Given the description of an element on the screen output the (x, y) to click on. 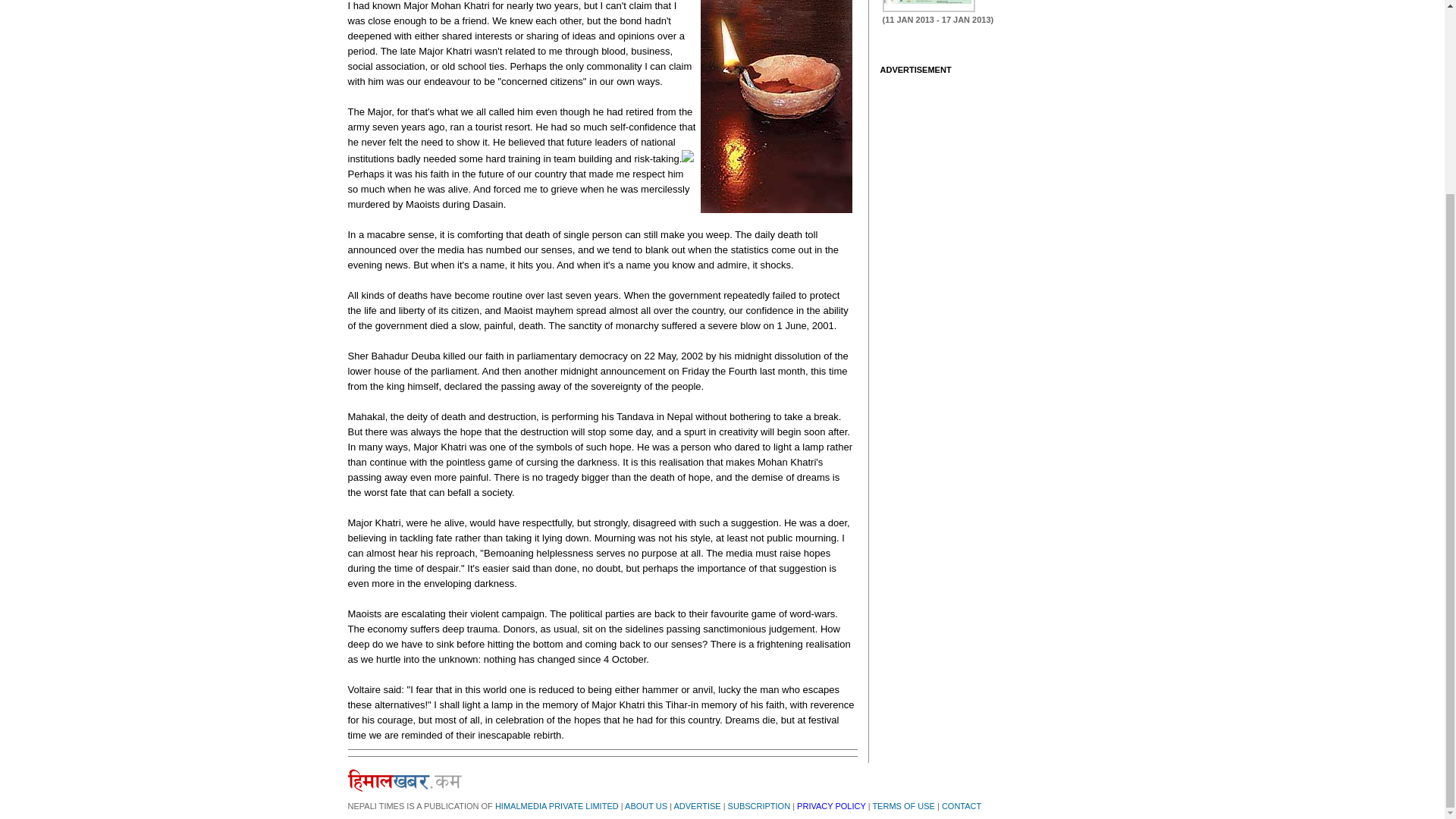
himalkhabar.com (404, 780)
TERMS OF USE (903, 805)
CONTACT (961, 805)
ADVERTISE (696, 805)
SUBSCRIPTION (759, 805)
ABOUT US (645, 805)
PRIVACY POLICY (830, 805)
638 (928, 6)
HIMALMEDIA PRIVATE LIMITED (556, 805)
